Given the description of an element on the screen output the (x, y) to click on. 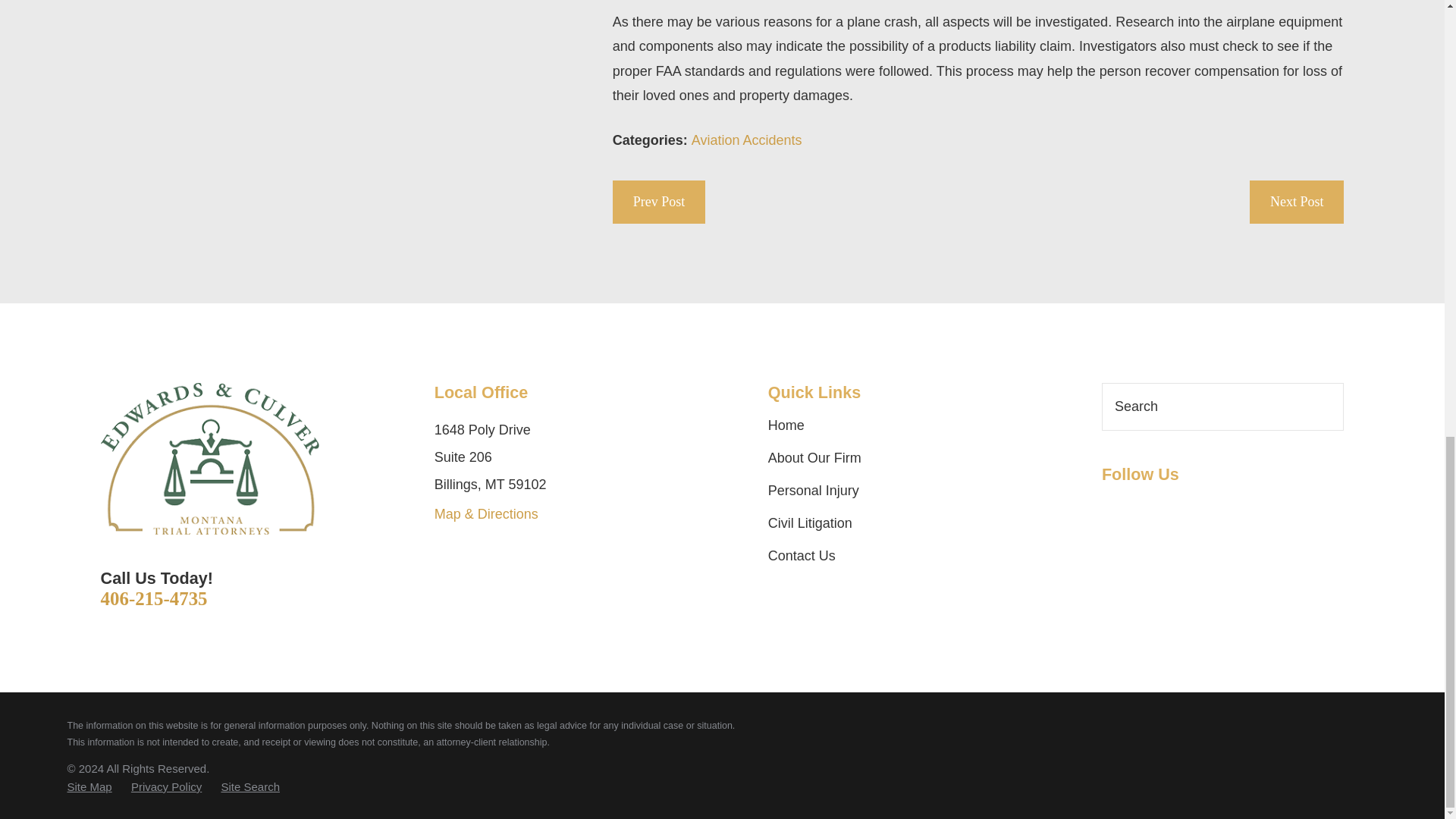
Facebook (1154, 506)
Yelp (1198, 506)
Google Business Profile (1111, 506)
Home (209, 459)
Search Our Site (1323, 406)
